Given the description of an element on the screen output the (x, y) to click on. 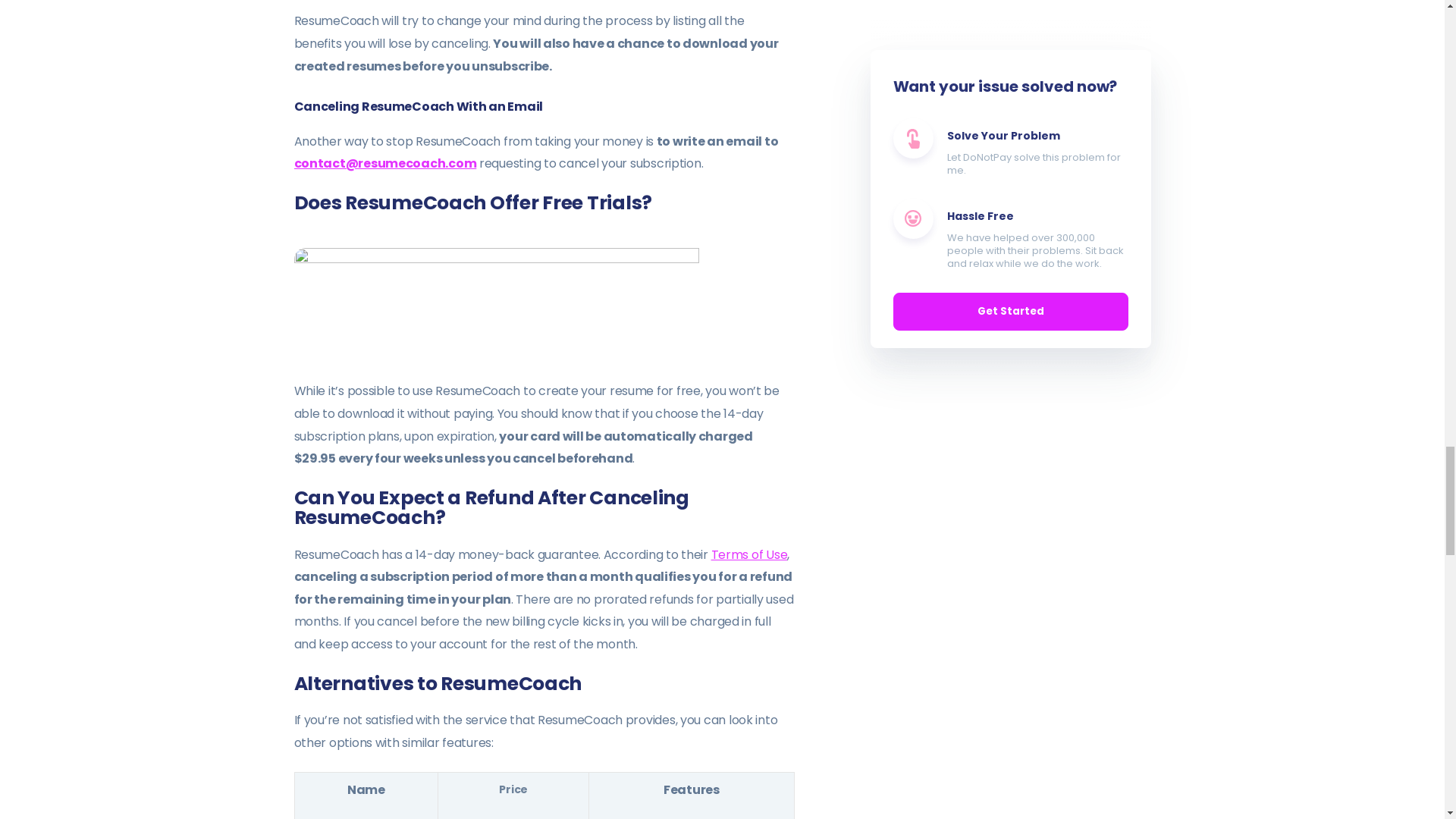
Terms of Use (749, 554)
